Given the description of an element on the screen output the (x, y) to click on. 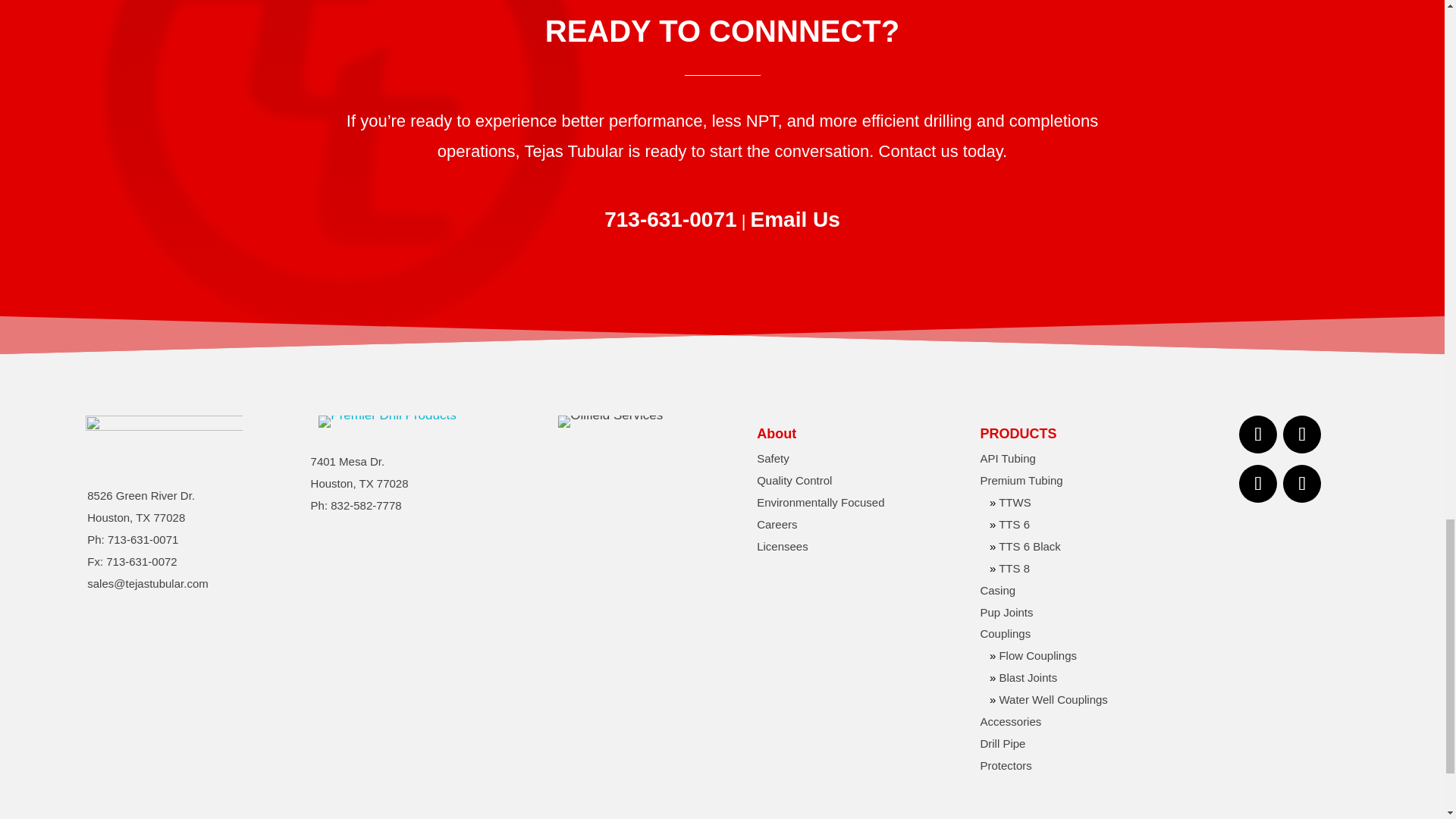
Follow on X (1257, 483)
PremierLogo (386, 421)
Follow on Youtube (1301, 483)
Tejas-Tubular-Logo (163, 434)
Tejas-Oilfield (609, 421)
Follow on LinkedIn (1301, 434)
Follow on Facebook (1257, 434)
